Given the description of an element on the screen output the (x, y) to click on. 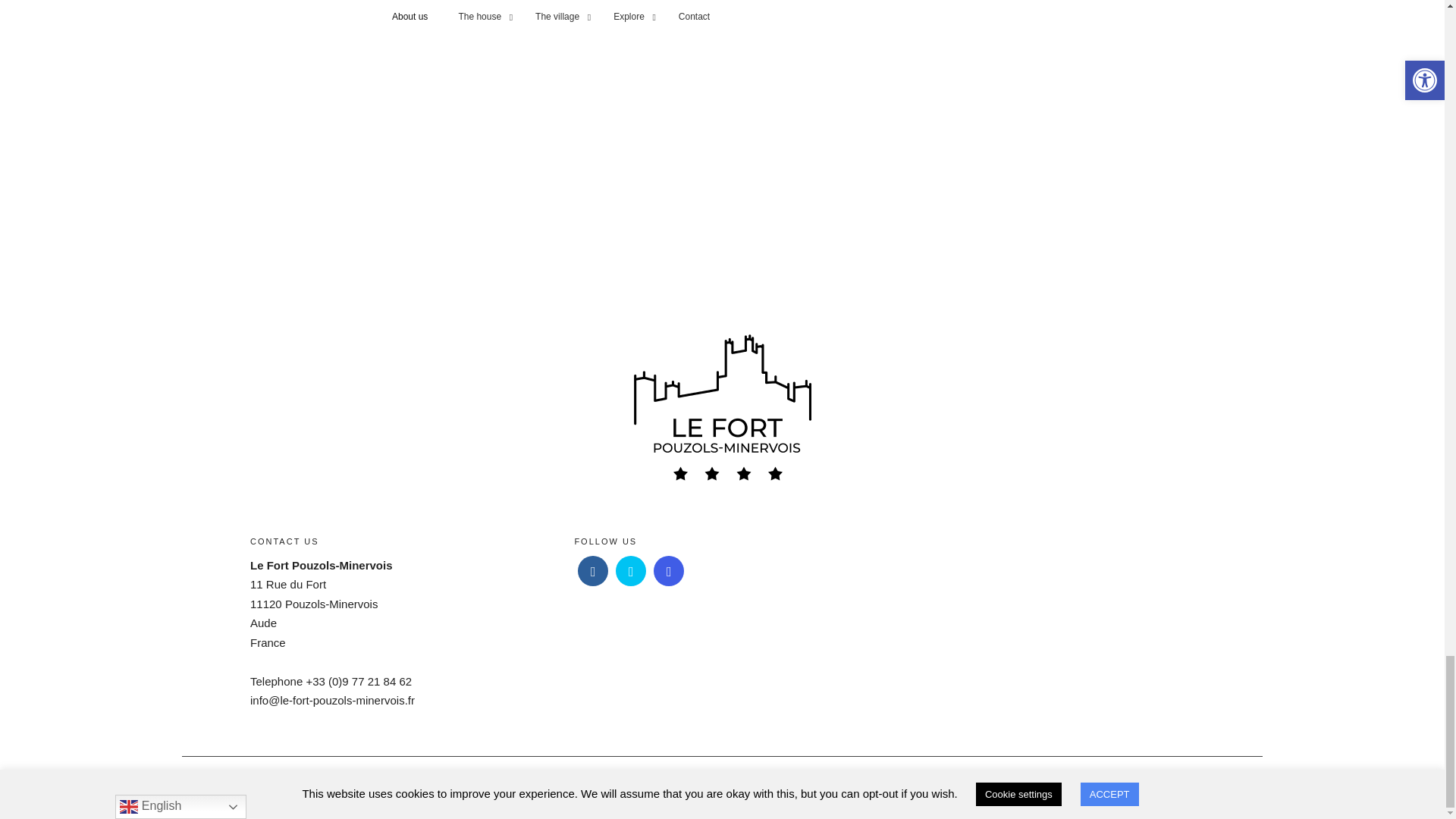
Twitter (630, 571)
Facebook (593, 571)
Instagram (668, 571)
